Given the description of an element on the screen output the (x, y) to click on. 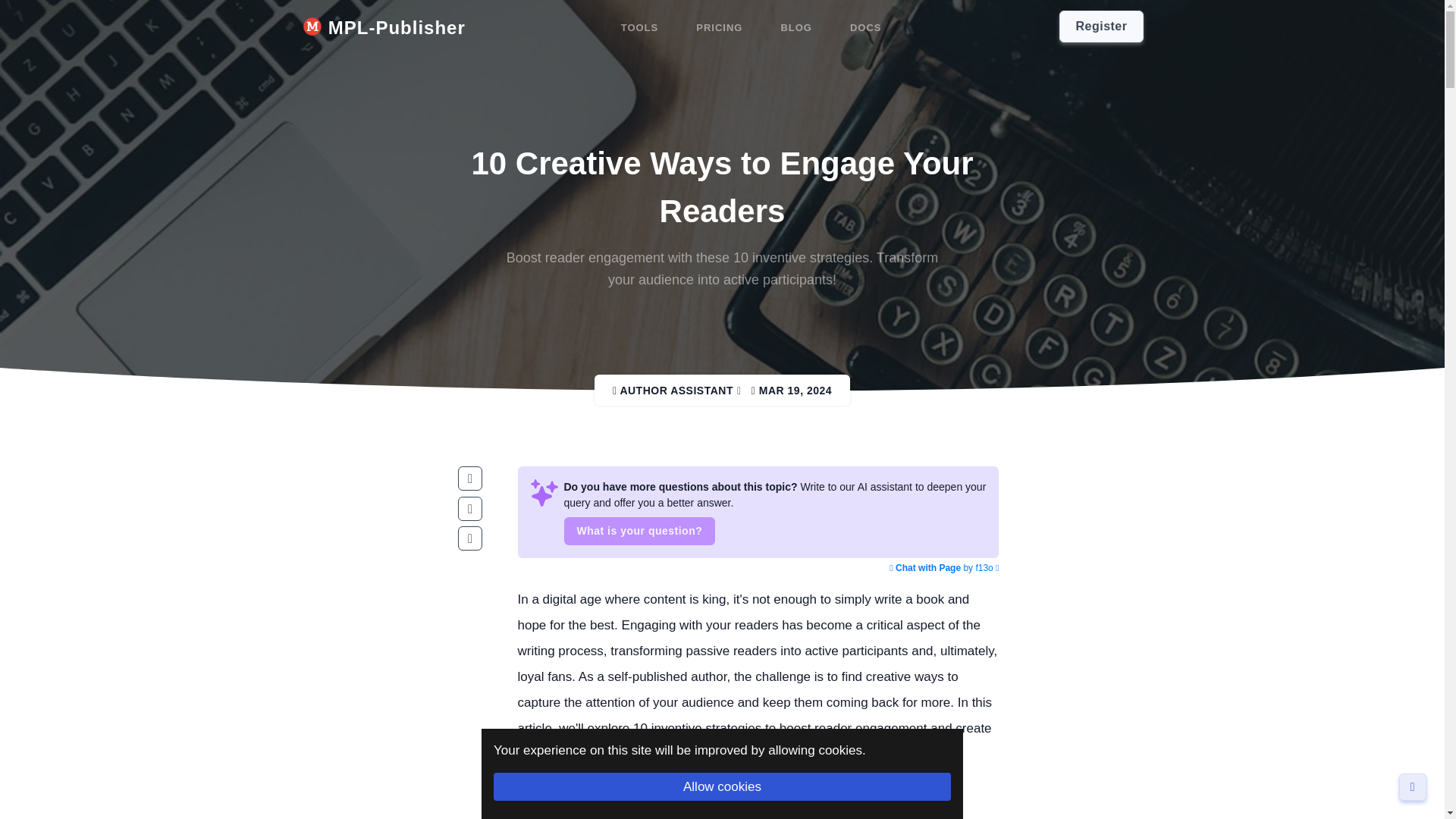
DOCS (865, 28)
Register (1100, 26)
PRICING (719, 28)
Key Takeaways (592, 799)
TOOLS (639, 28)
What is your question? (640, 530)
BLOG (796, 28)
MPL-Publisher (383, 28)
MPL-Publisher (383, 28)
